Given the description of an element on the screen output the (x, y) to click on. 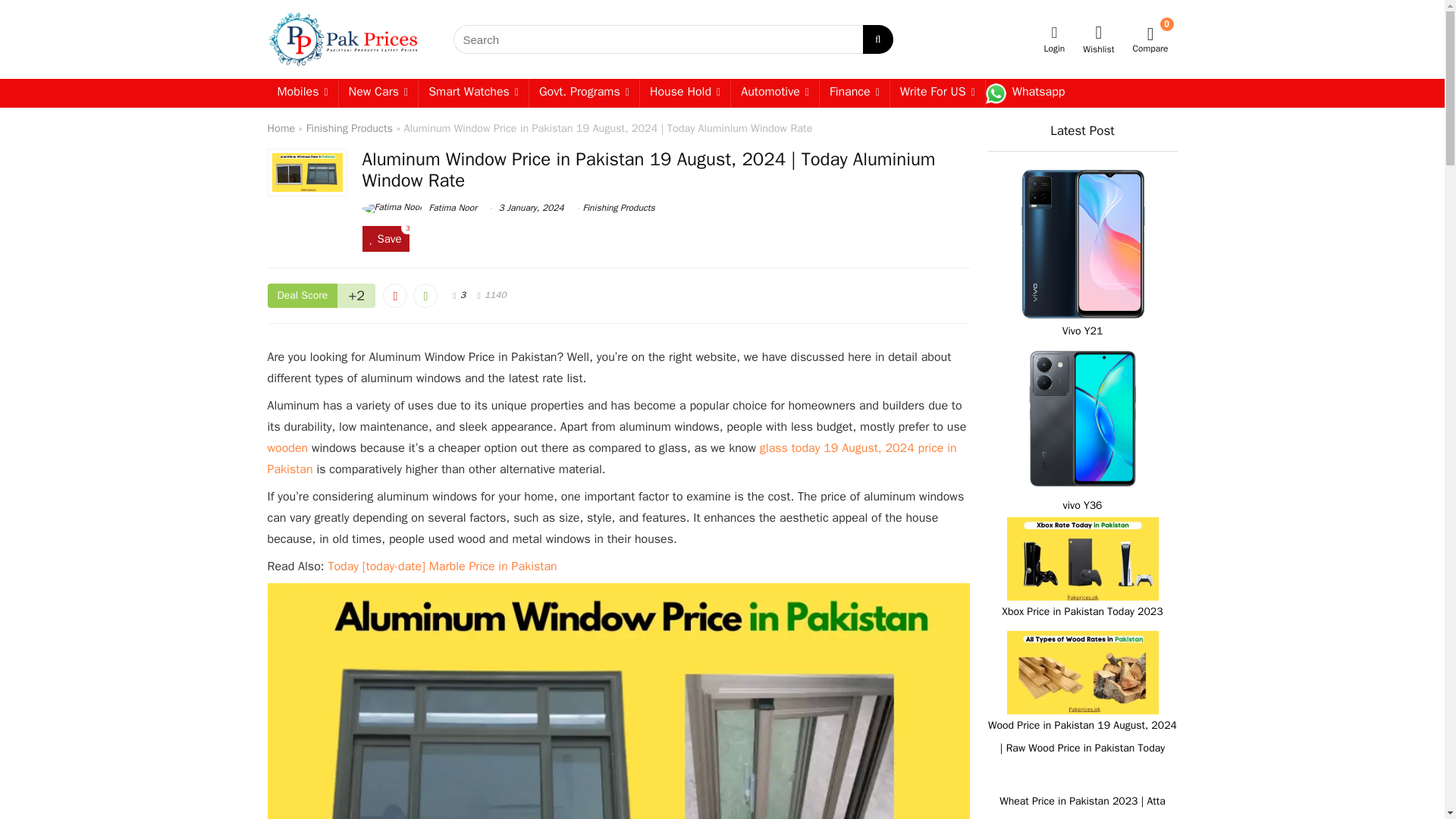
View all posts in Finishing Products (617, 207)
Mobiles (301, 92)
Vote up (425, 295)
Vote down (394, 295)
